Given the description of an element on the screen output the (x, y) to click on. 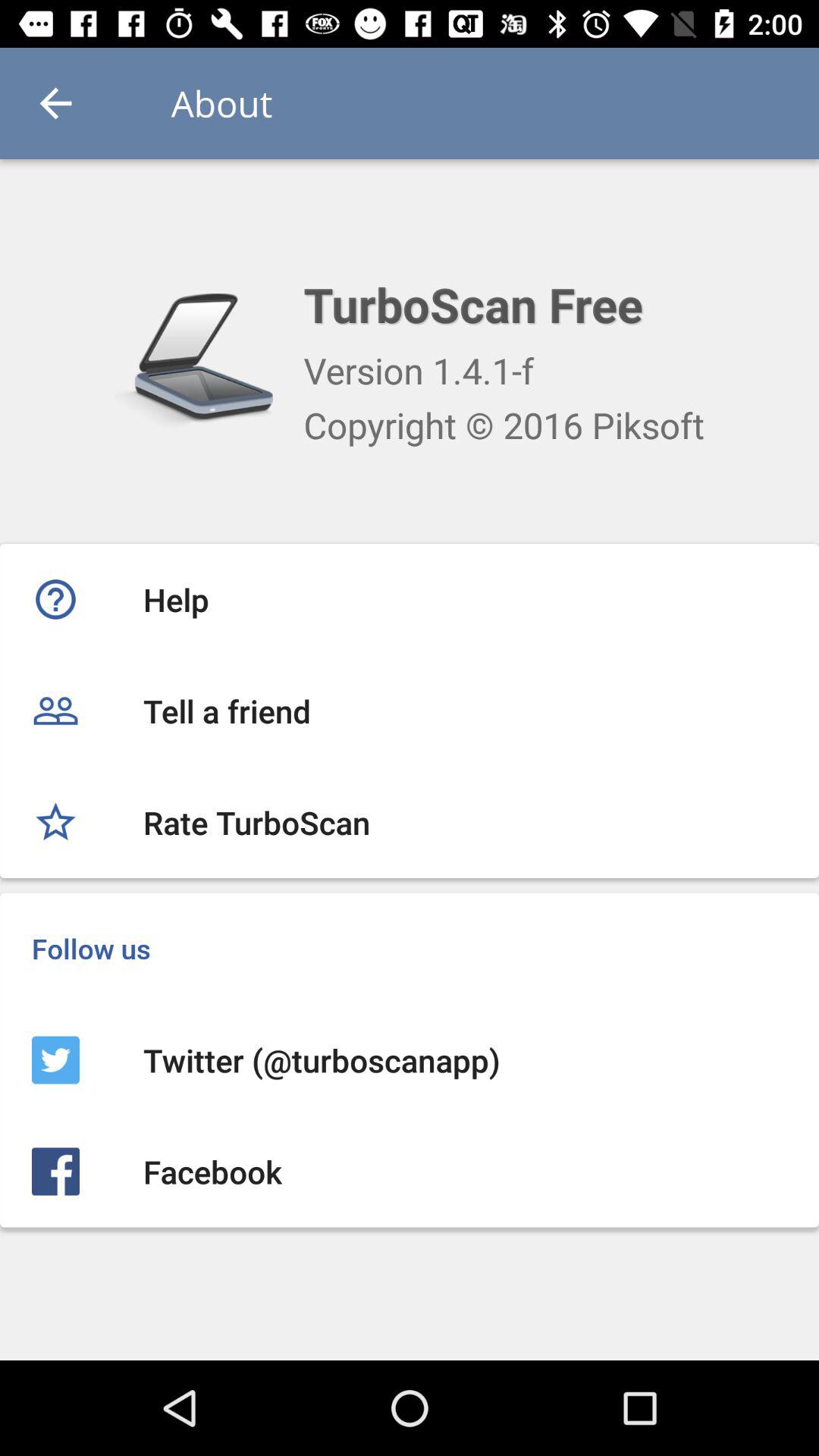
open item to the left of the about (55, 103)
